Given the description of an element on the screen output the (x, y) to click on. 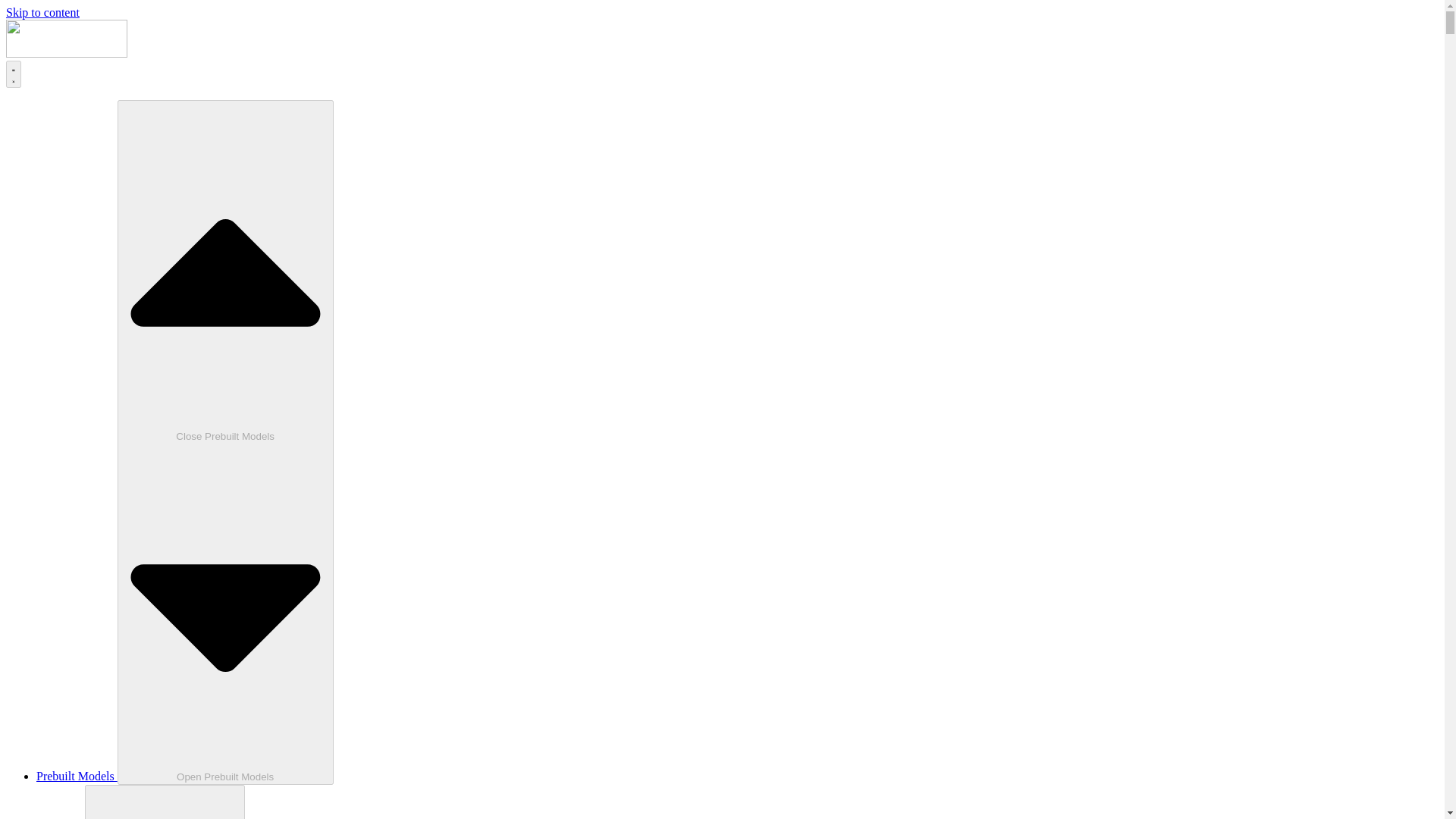
Close Solutions Open Solutions (164, 801)
Skip to content (42, 11)
Prebuilt Models (76, 775)
